Given the description of an element on the screen output the (x, y) to click on. 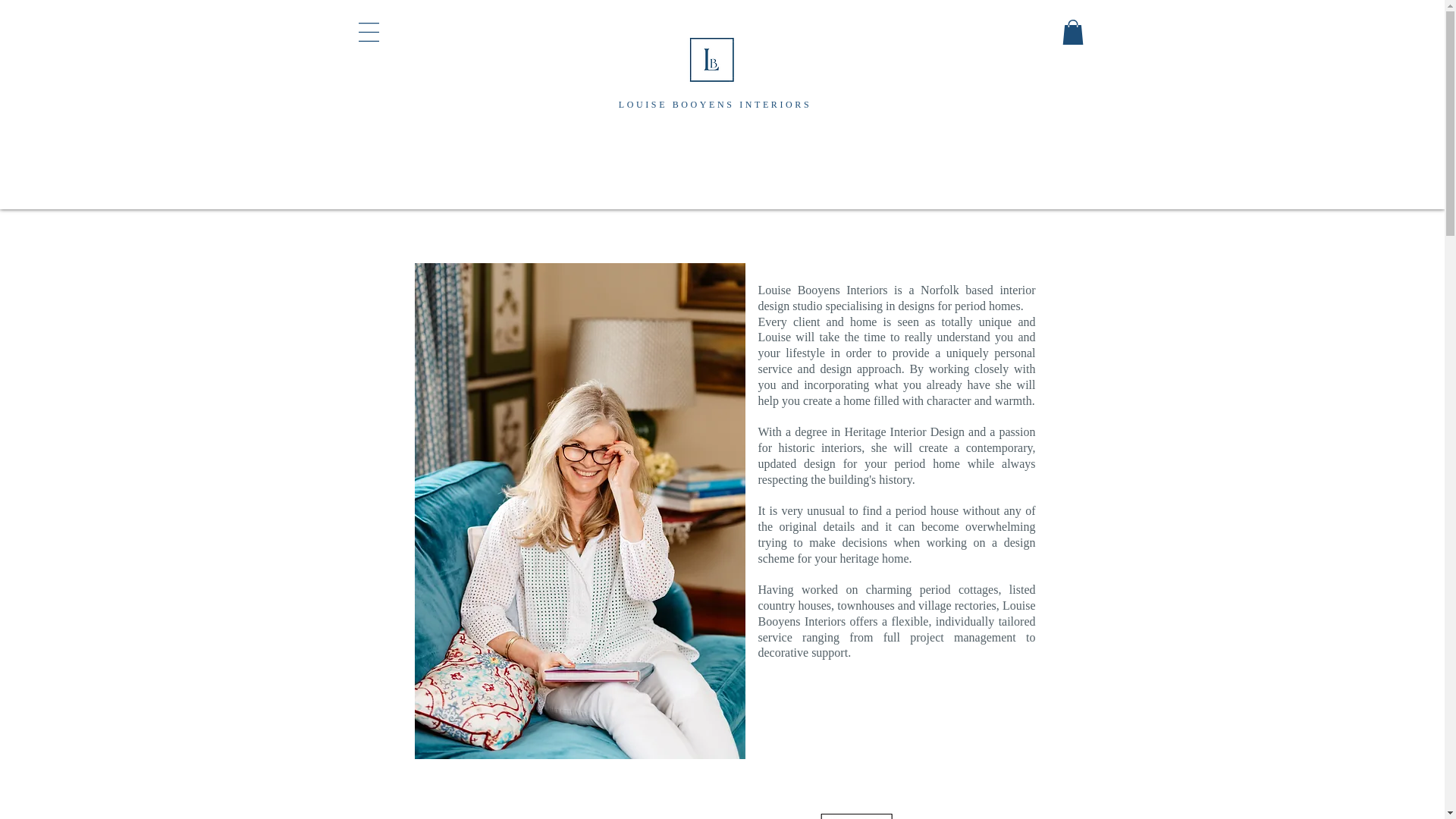
studio (807, 305)
in (835, 431)
